Given the description of an element on the screen output the (x, y) to click on. 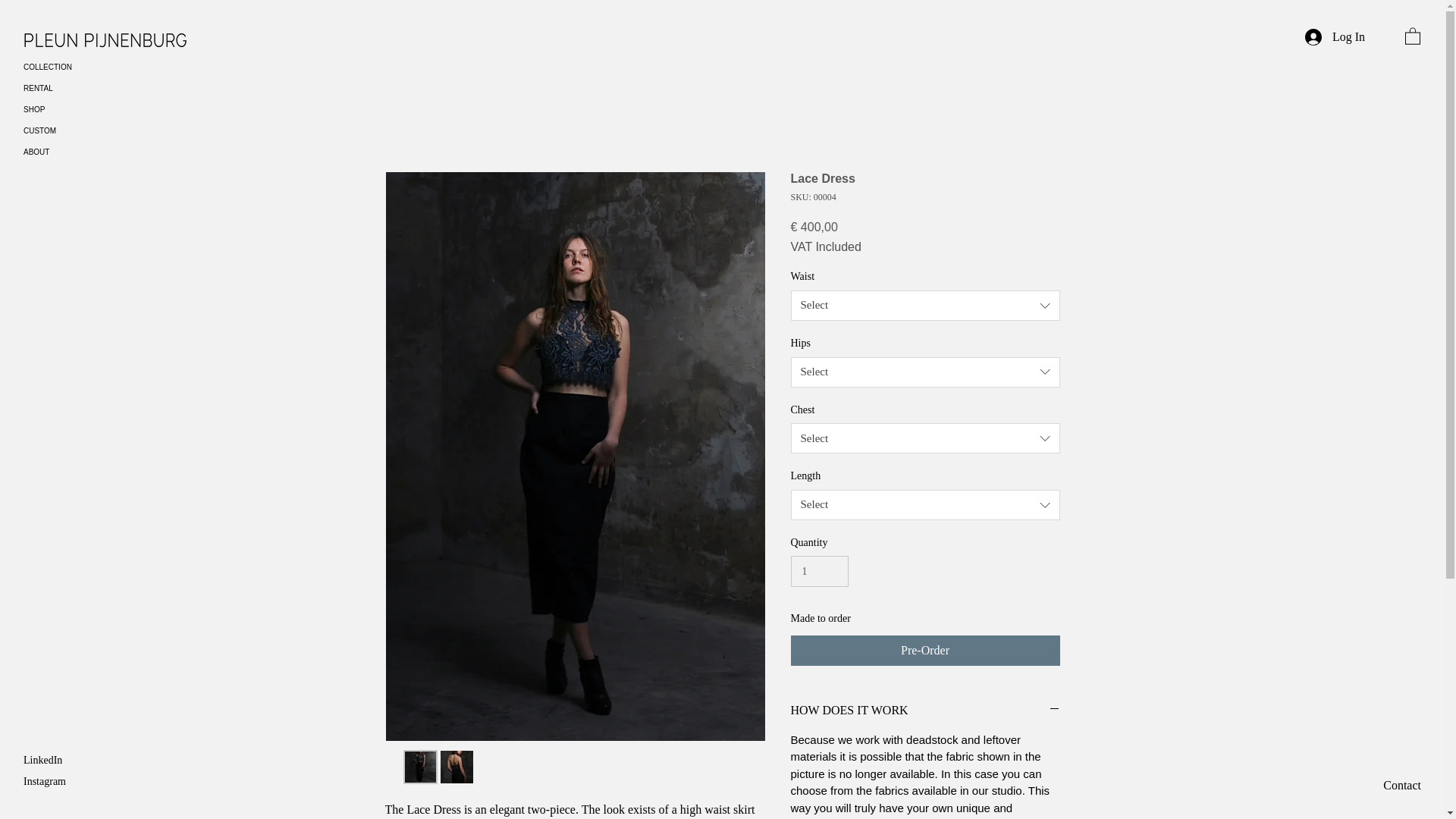
1 (818, 571)
Pre-Order (924, 650)
Select (924, 504)
HOW DOES IT WORK (924, 710)
CUSTOM (64, 130)
Select (924, 305)
Select (924, 438)
Contact (1402, 784)
RENTAL (64, 88)
Instagram (44, 781)
Select (924, 372)
ABOUT (64, 151)
SHOP (64, 109)
COLLECTION (64, 66)
LinkedIn (42, 759)
